Given the description of an element on the screen output the (x, y) to click on. 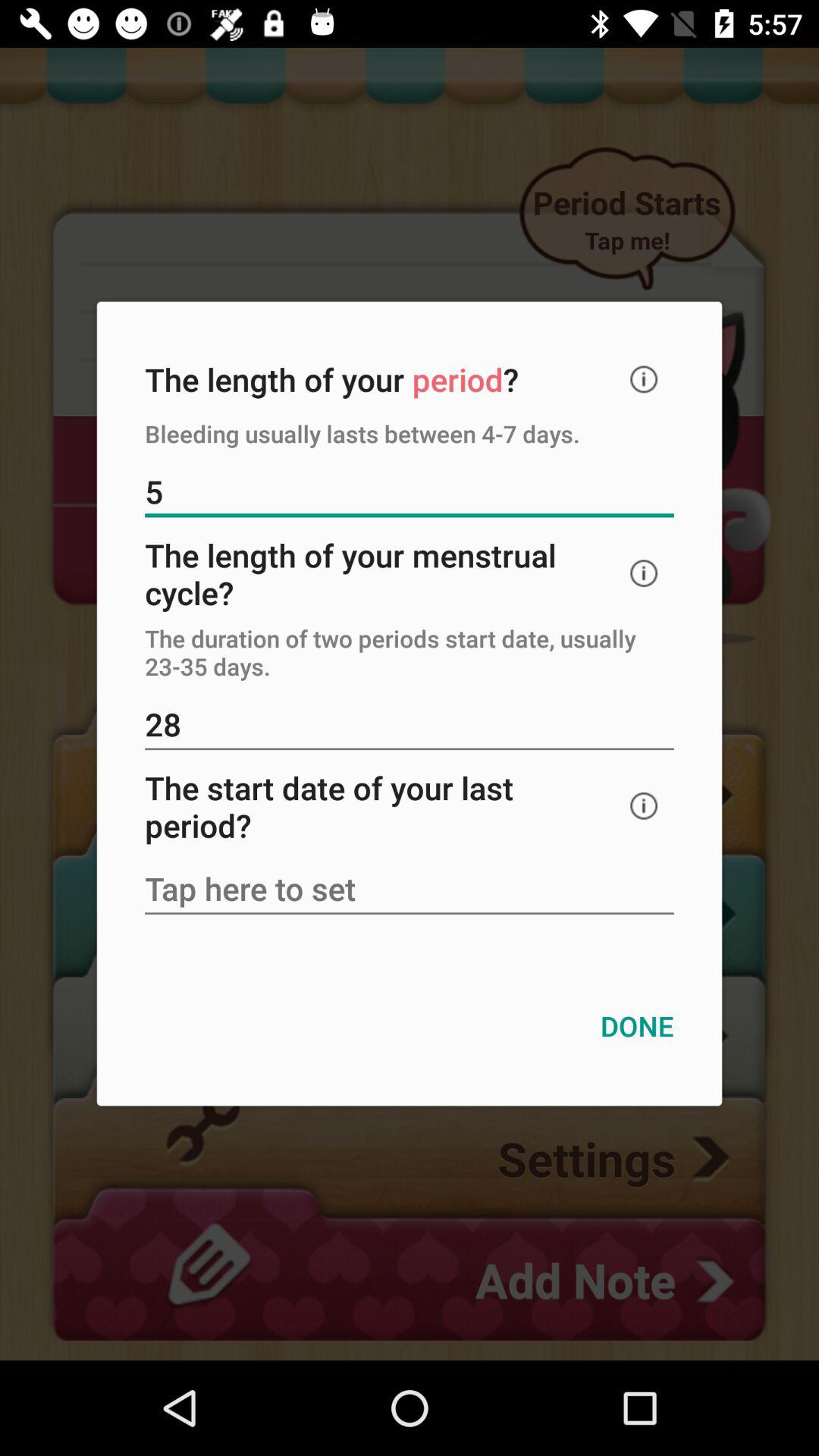
turn off item above done icon (409, 890)
